Given the description of an element on the screen output the (x, y) to click on. 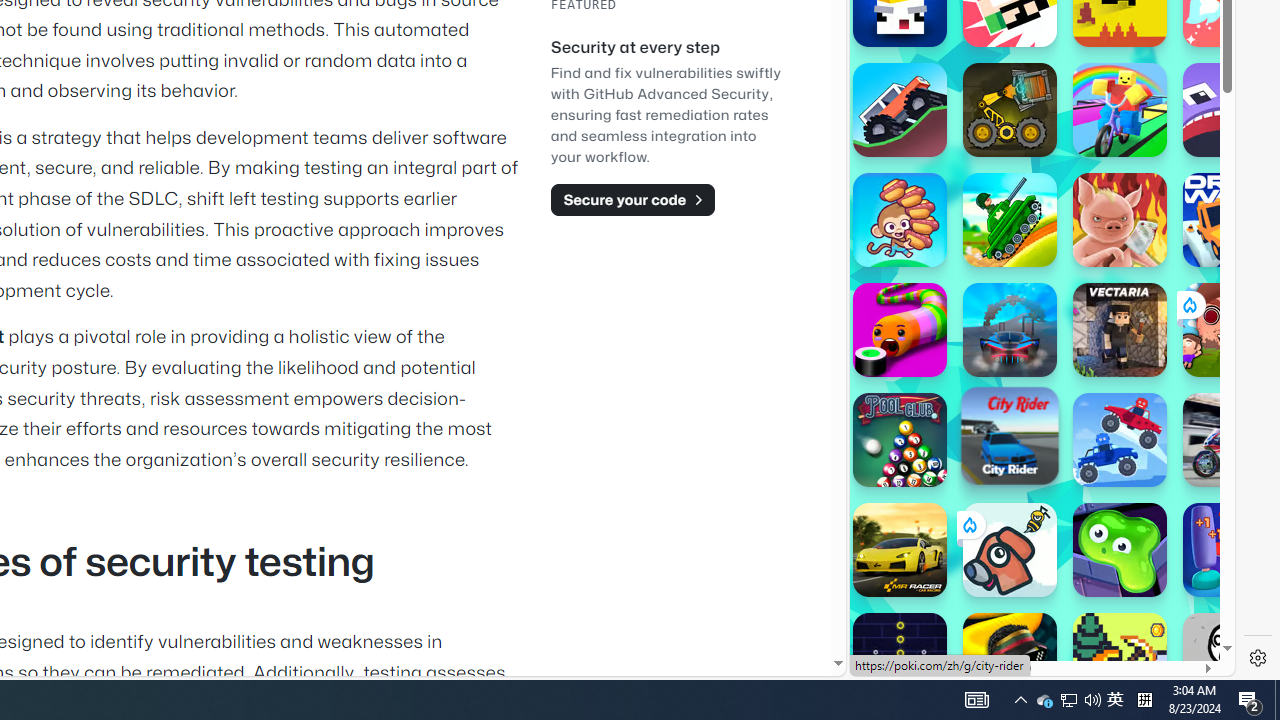
Poki (1034, 606)
We Become What We Behold We Become What We Behold (1229, 659)
Pool Club Pool Club (899, 439)
Vectaria.io (1119, 329)
Click to scroll right (1196, 247)
Search results from poki.com (1005, 59)
Monkey Mart Monkey Mart (899, 219)
We Become What We Behold (1229, 659)
Save Dogogo (1009, 549)
Hills of Steel (943, 300)
Vectaria.io Vectaria.io (1119, 329)
Driftwave (1229, 219)
BoxRob BoxRob (1009, 109)
